Given the description of an element on the screen output the (x, y) to click on. 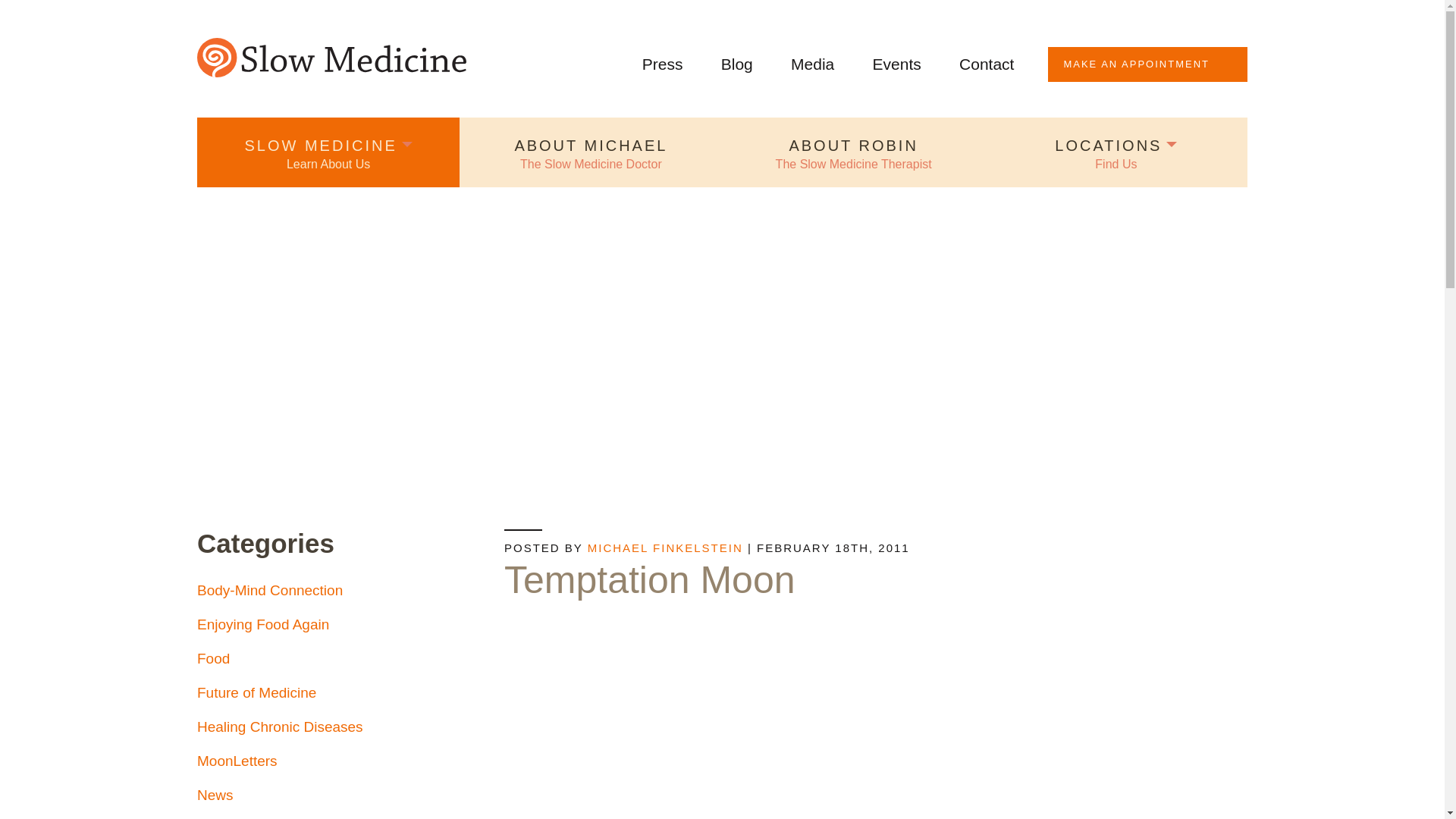
Press (662, 63)
Events (896, 63)
Find Us (1116, 152)
SLOW MEDICINE (328, 152)
Media (812, 63)
Blog (736, 63)
The Slow Medicine Therapist (853, 152)
Contact (986, 63)
MAKE AN APPOINTMENT (1147, 63)
Learn About Us (328, 152)
